Given the description of an element on the screen output the (x, y) to click on. 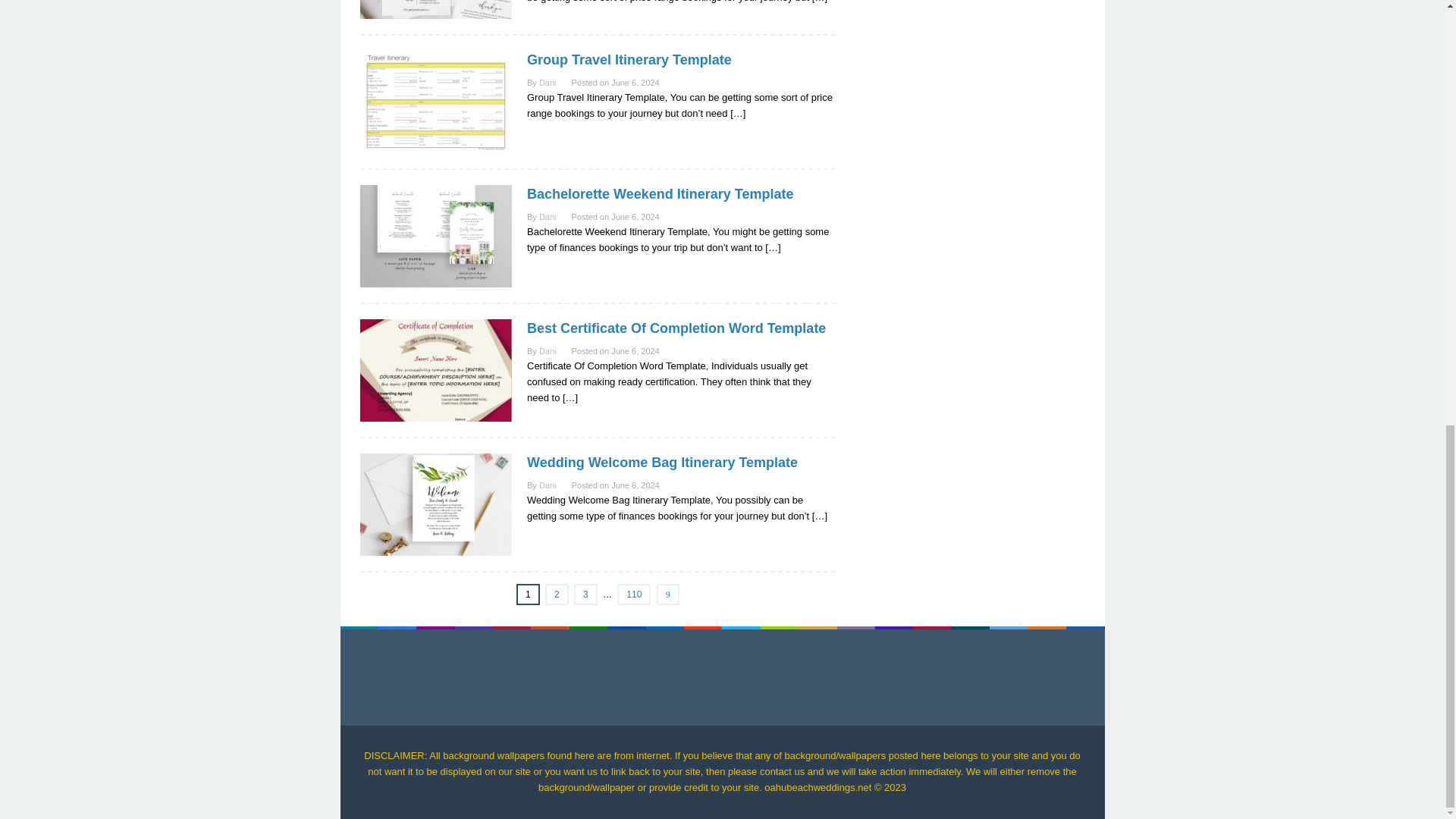
Dani (547, 81)
Best Certificate Of Completion Word Template (676, 328)
Dani (547, 216)
Dani (547, 350)
Group Travel Itinerary Template (629, 59)
Bachelorette Weekend Itinerary Template (660, 193)
